Given the description of an element on the screen output the (x, y) to click on. 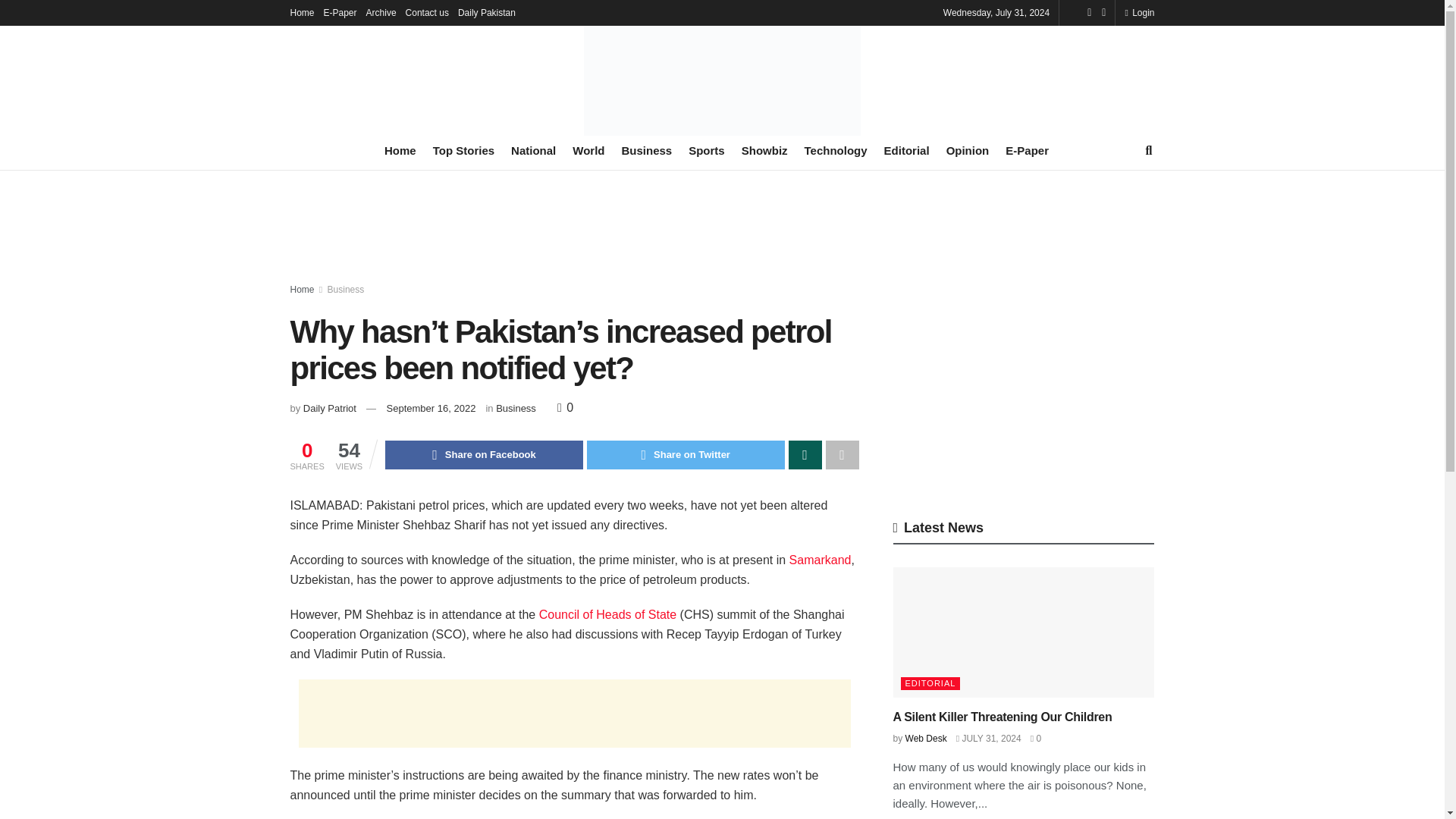
E-Paper (1027, 150)
National (533, 150)
Archive (381, 12)
Opinion (968, 150)
Home (301, 12)
Business (646, 150)
Contact us (427, 12)
Technology (836, 150)
Editorial (906, 150)
Login (1139, 12)
Sports (706, 150)
Top Stories (463, 150)
E-Paper (339, 12)
Daily Pakistan (486, 12)
Showbiz (764, 150)
